Given the description of an element on the screen output the (x, y) to click on. 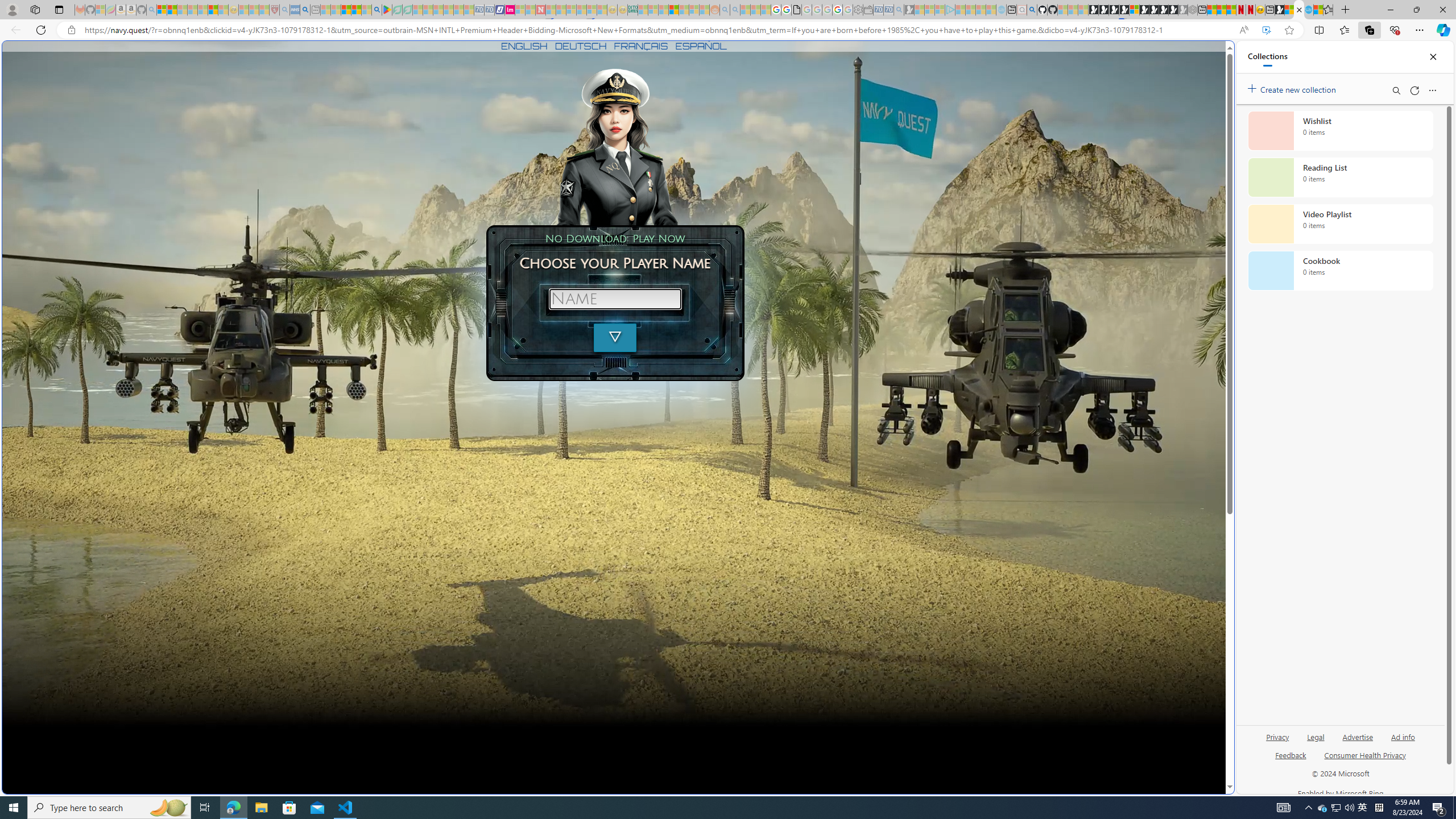
utah sues federal government - Search (304, 9)
Sign in to your account (1134, 9)
Wishlist collection, 0 items (1339, 130)
